Given the description of an element on the screen output the (x, y) to click on. 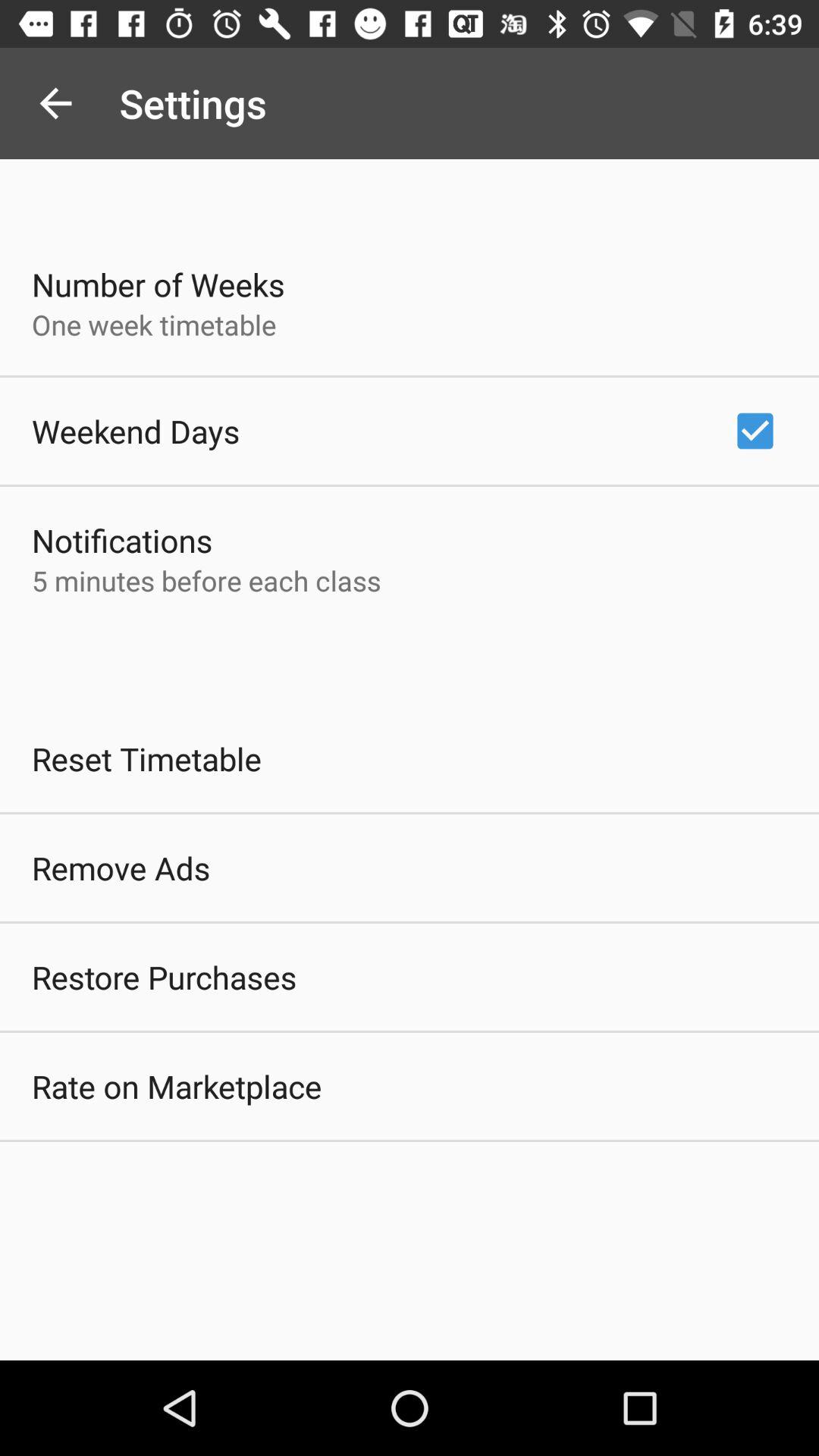
turn on item below reset timetable item (120, 867)
